Given the description of an element on the screen output the (x, y) to click on. 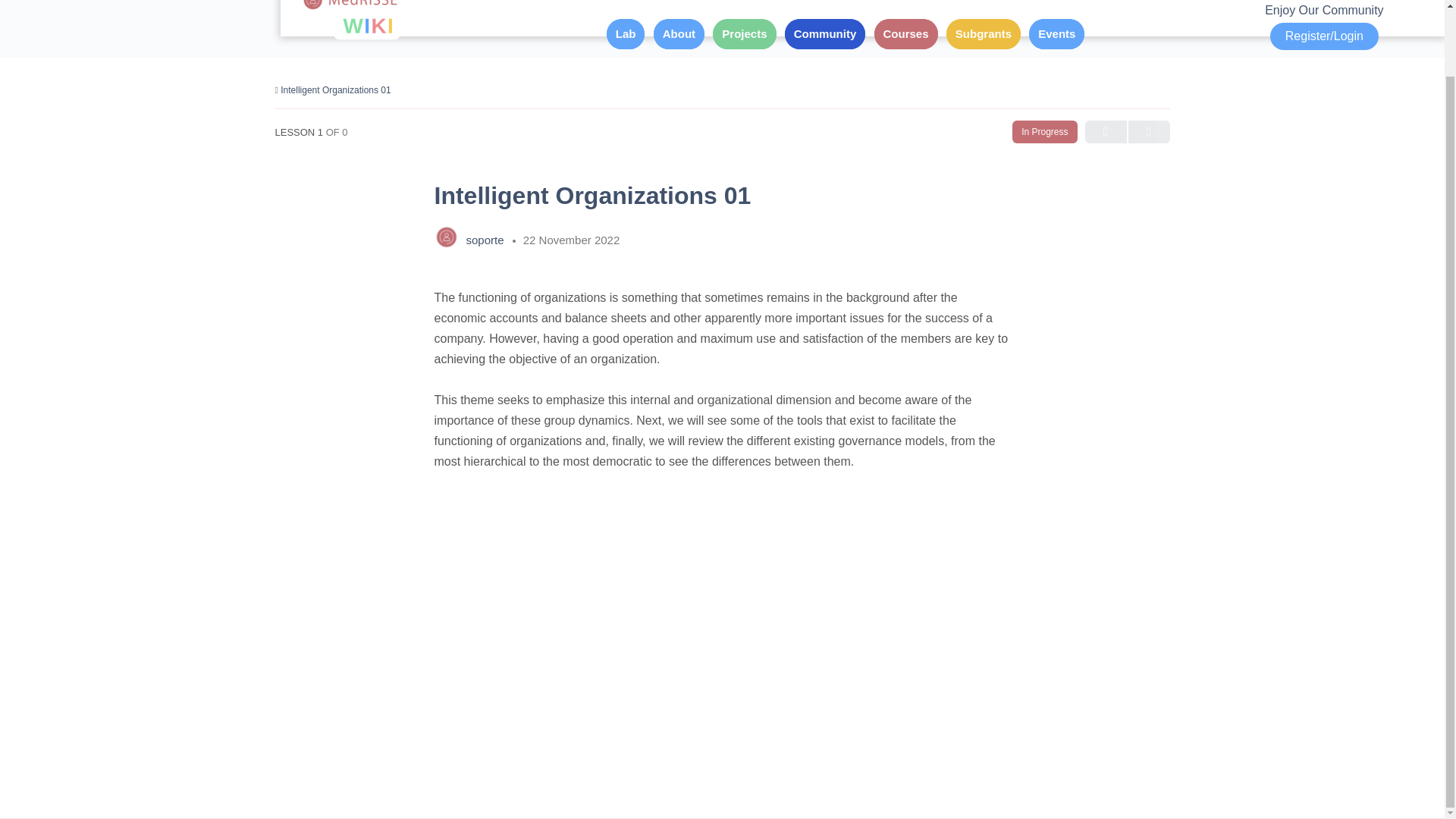
Projects (744, 33)
soporte (485, 239)
Courses (906, 33)
Community (825, 33)
W I K I (374, 27)
Lab (626, 33)
Subgrants (983, 33)
About (678, 33)
Events (1056, 33)
Intelligent Organizations 01 (335, 90)
